Given the description of an element on the screen output the (x, y) to click on. 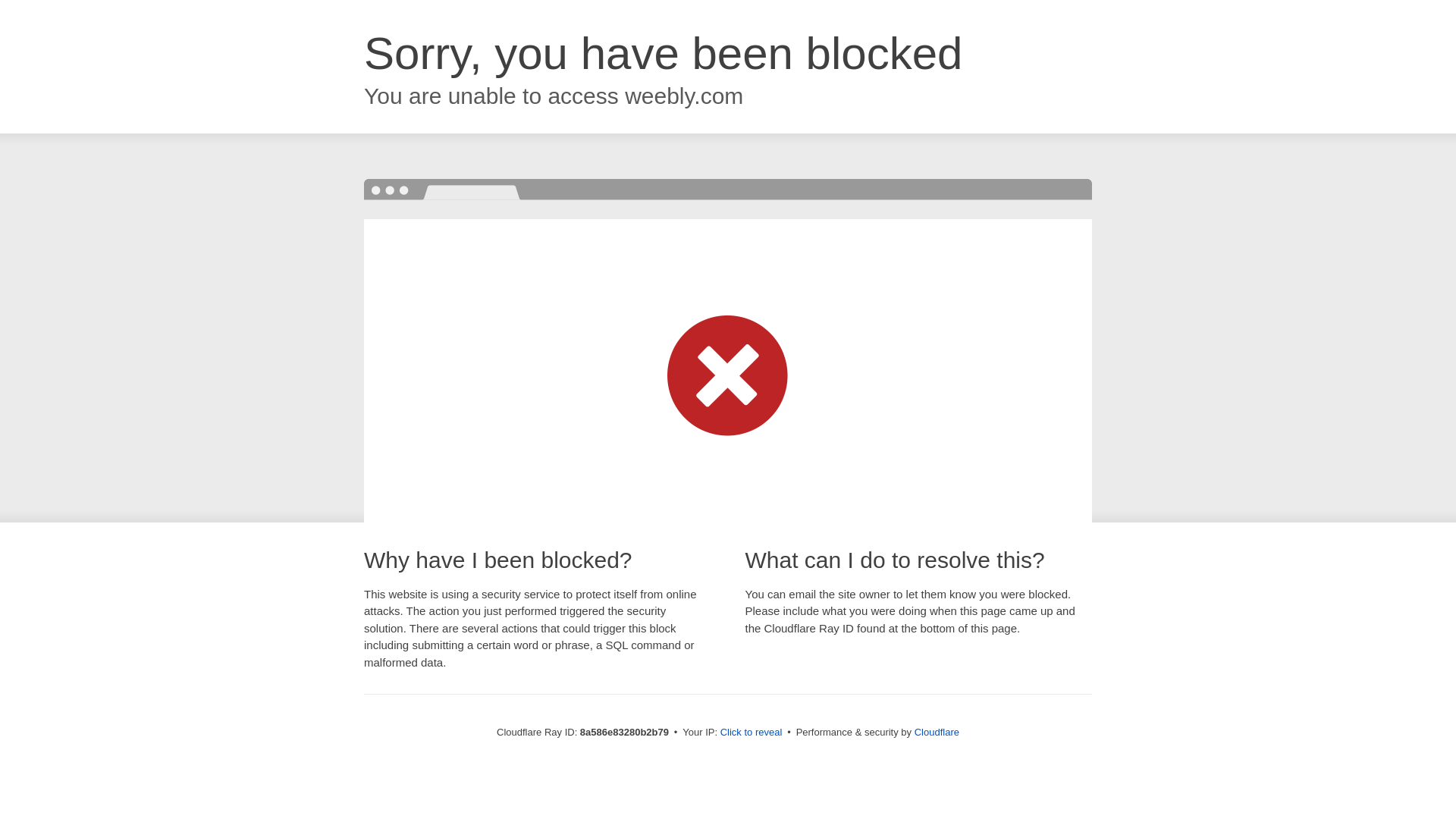
Cloudflare (936, 731)
Click to reveal (751, 732)
